Given the description of an element on the screen output the (x, y) to click on. 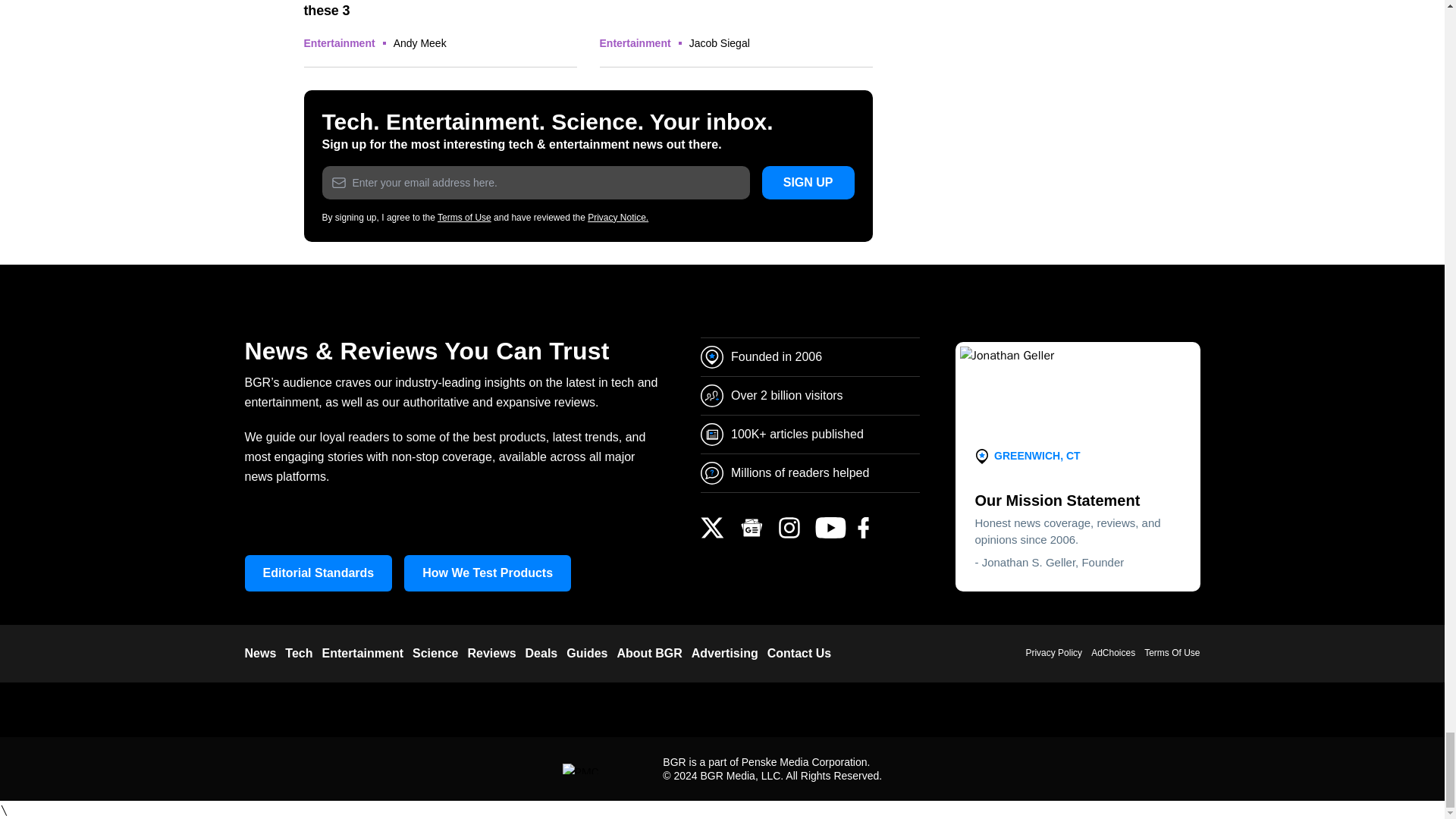
Posts by Jacob Siegal (718, 42)
Posts by Andy Meek (419, 42)
